Given the description of an element on the screen output the (x, y) to click on. 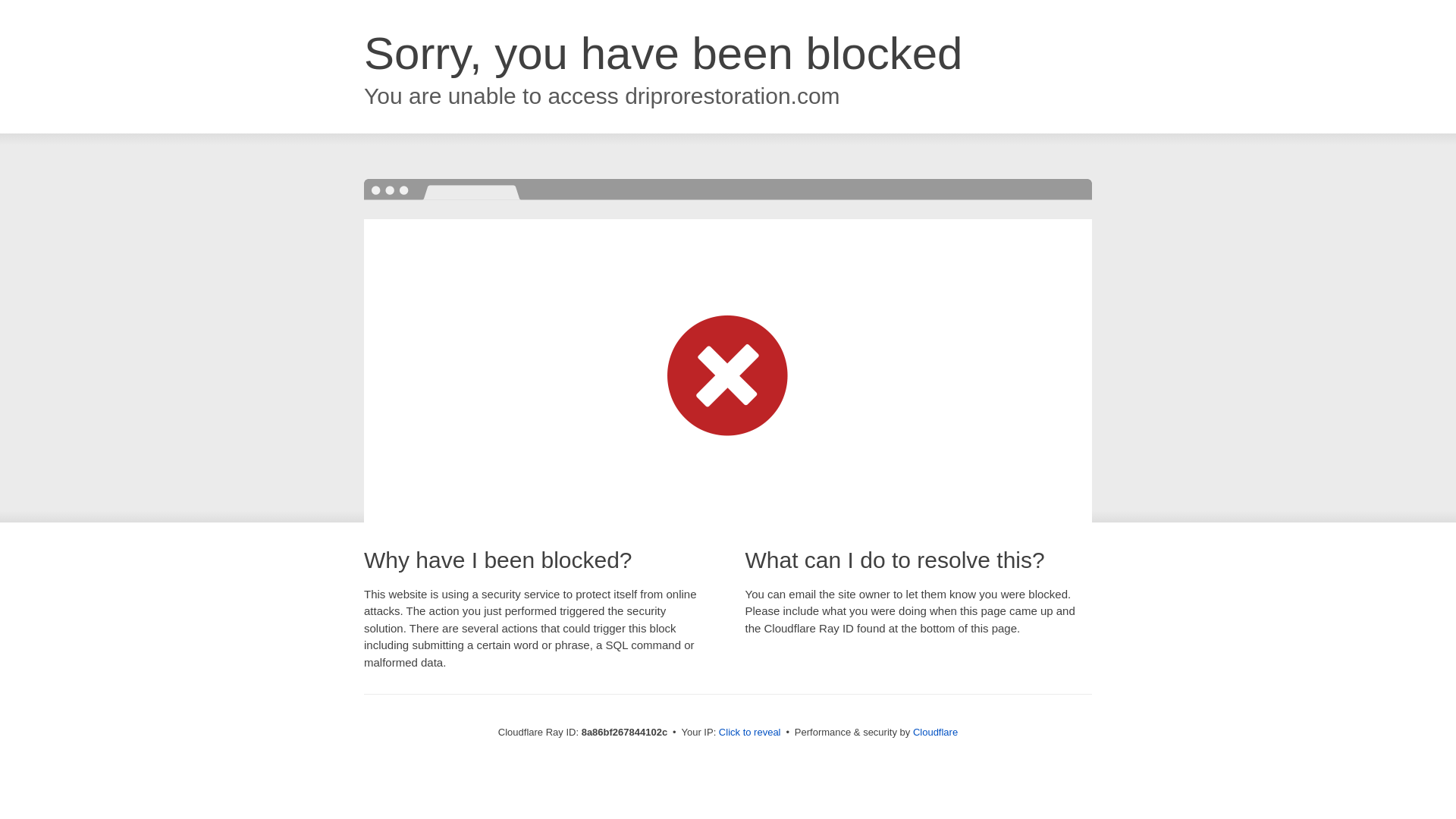
Cloudflare (935, 731)
Click to reveal (749, 732)
